Given the description of an element on the screen output the (x, y) to click on. 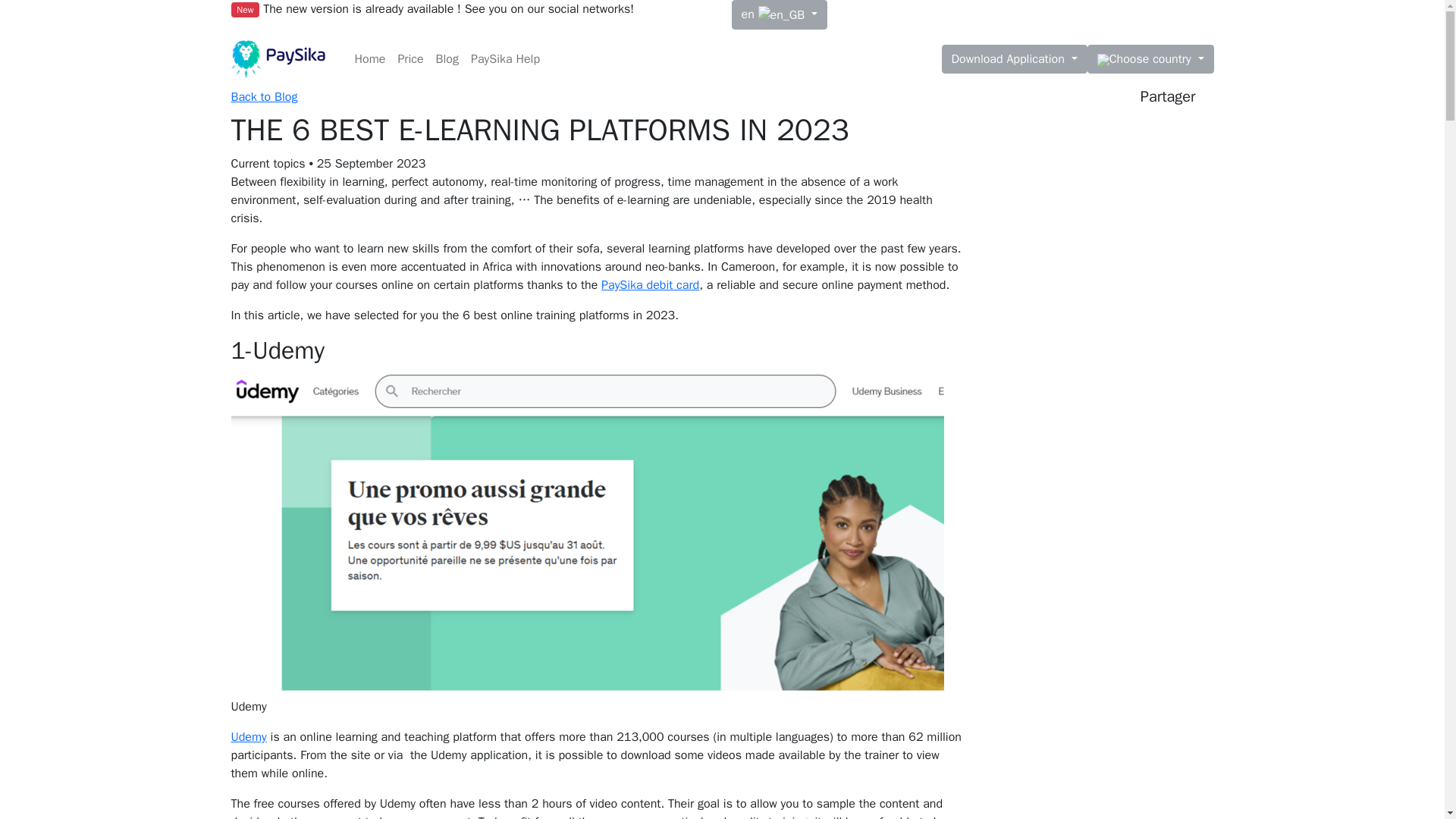
Download Application (1014, 59)
en (778, 14)
Udemy (248, 736)
Price (410, 59)
Back to Blog (263, 96)
Home (370, 59)
Choose country (1150, 59)
PaySika Help (505, 59)
Blog (446, 59)
PaySika debit card (649, 284)
